Given the description of an element on the screen output the (x, y) to click on. 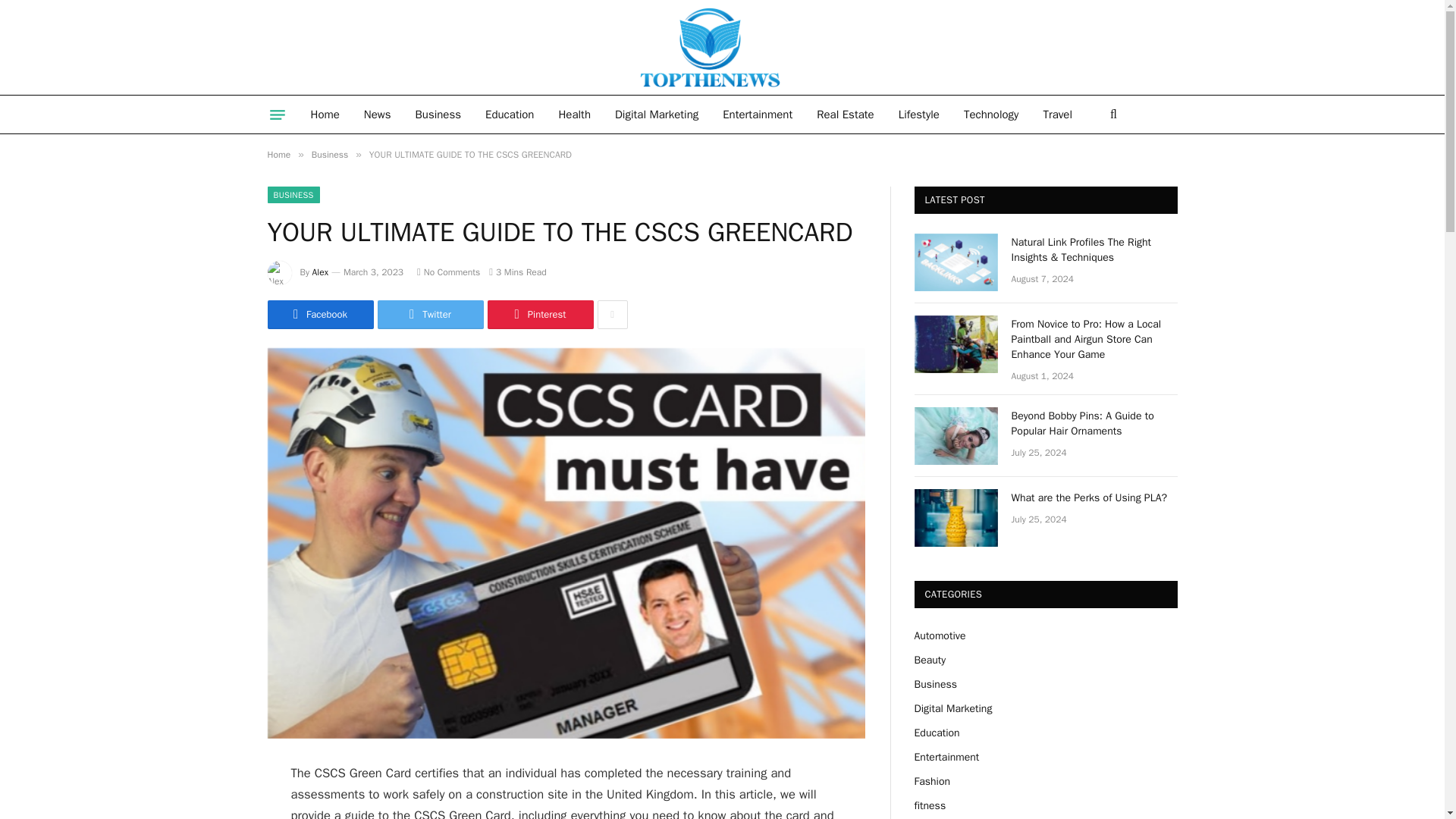
Digital Marketing (656, 114)
Share on Facebook (319, 314)
TOPTHENEWS (633, 47)
Business (329, 154)
Real Estate (845, 114)
Posts by Alex (321, 272)
Technology (991, 114)
Entertainment (757, 114)
Travel (1057, 114)
